Given the description of an element on the screen output the (x, y) to click on. 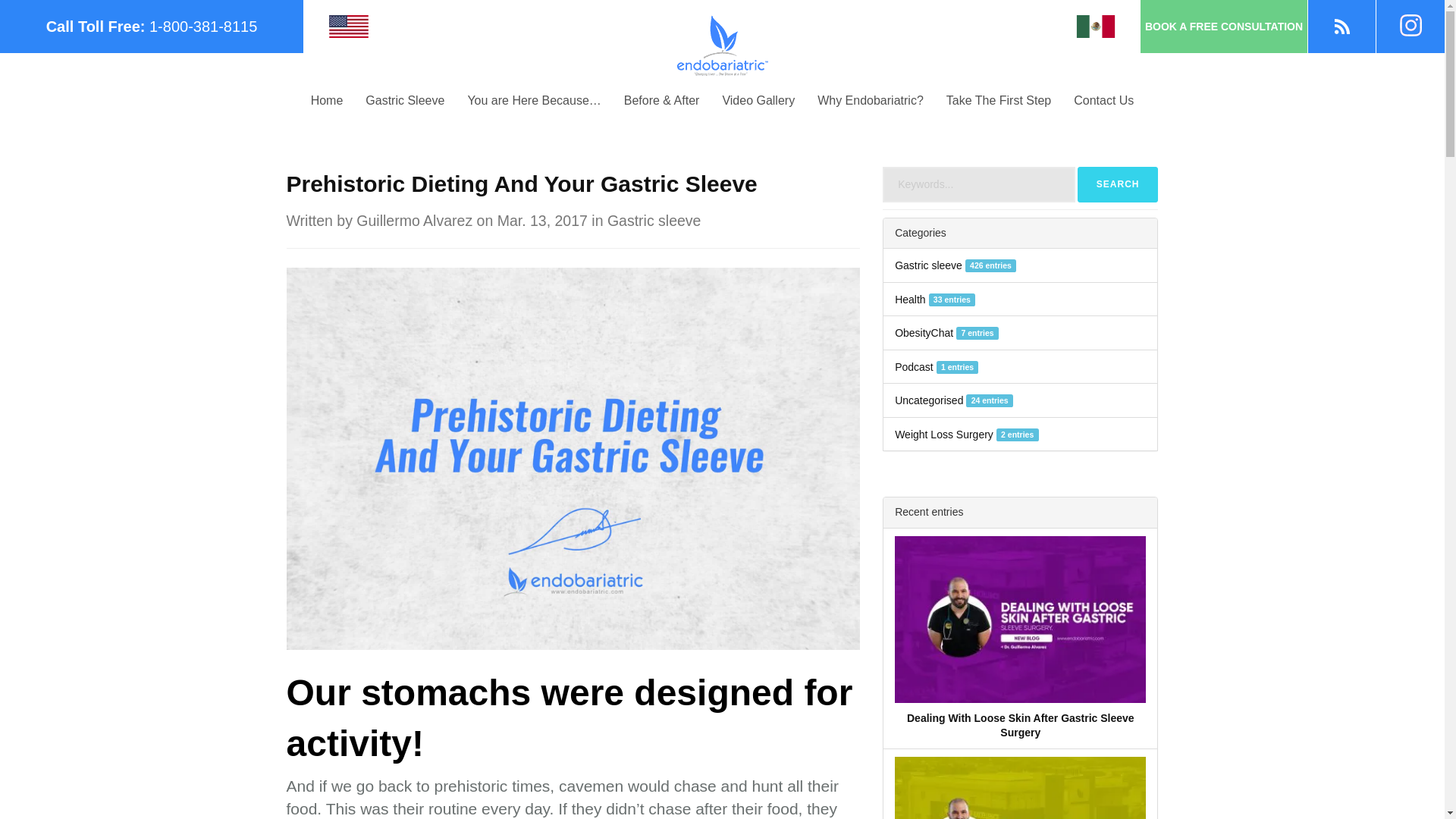
English (348, 26)
Why Endobariatric? (870, 100)
1-800-381-8115 (203, 26)
BOOK A FREE CONSULTATION (1223, 26)
Home (327, 100)
Video Gallery (758, 100)
Gastric Sleeve (404, 100)
Prehistoric Dieting And Your Gastric Sleeve (573, 457)
